Given the description of an element on the screen output the (x, y) to click on. 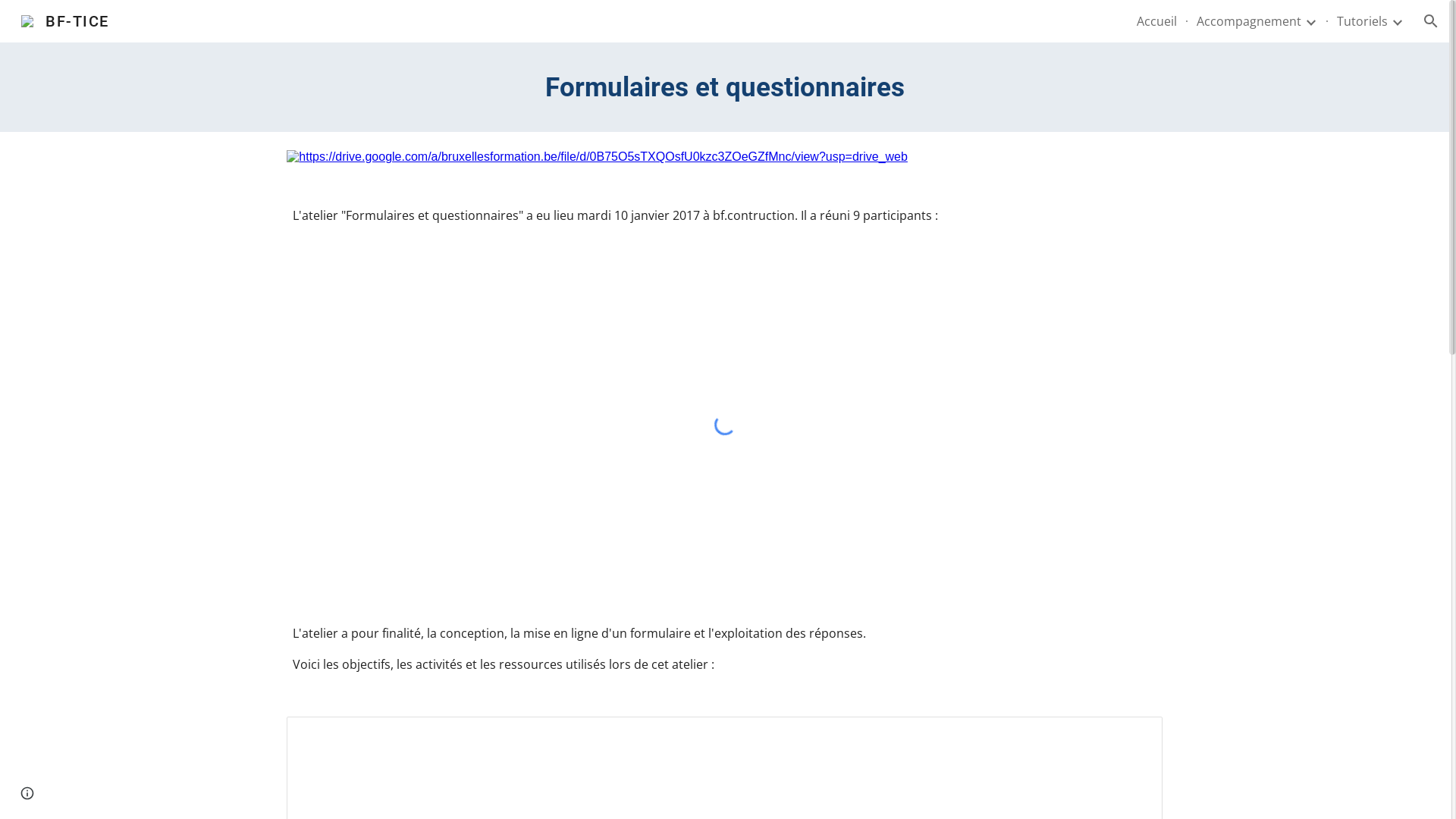
BF-TICE Element type: text (65, 19)
Accueil Element type: text (1156, 20)
Accompagnement Element type: text (1248, 20)
Expand/Collapse Element type: hover (1310, 20)
Expand/Collapse Element type: hover (1396, 20)
Custom embed Element type: hover (724, 424)
Tutoriels Element type: text (1361, 20)
